Given the description of an element on the screen output the (x, y) to click on. 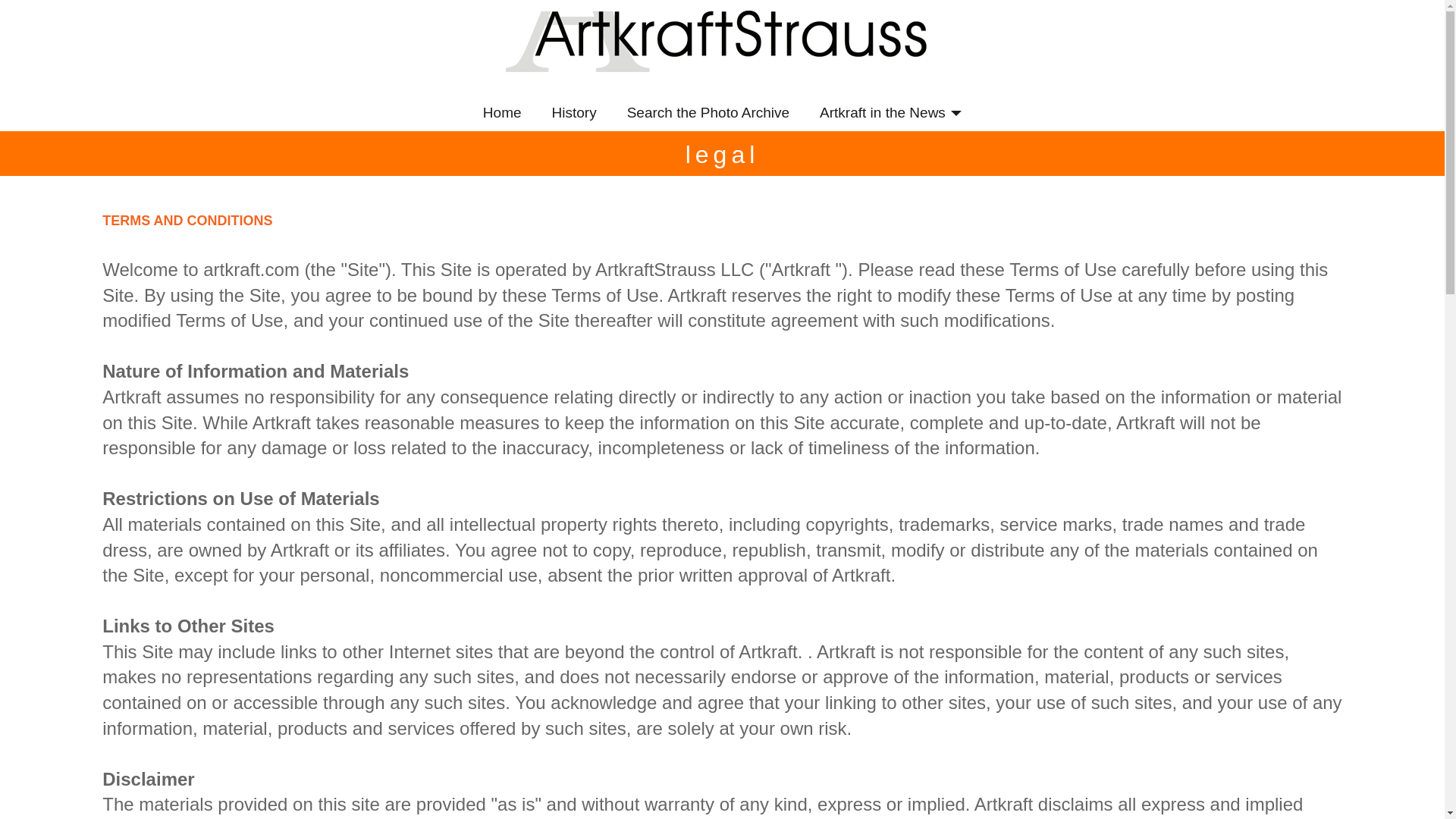
History (574, 112)
Search the Photo Archive (708, 112)
Home (502, 112)
Artkraft in the News (890, 112)
